Given the description of an element on the screen output the (x, y) to click on. 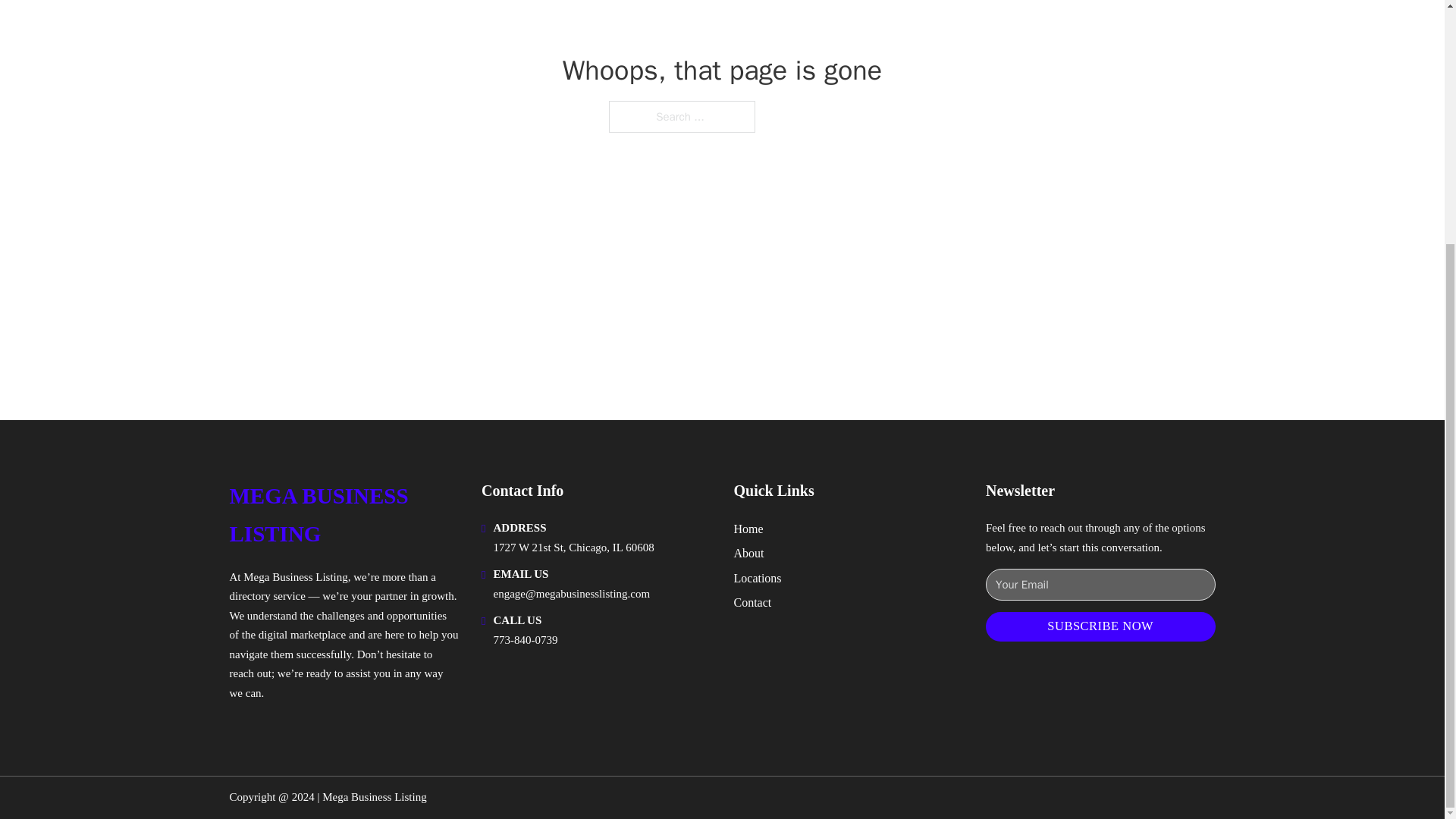
SUBSCRIBE NOW (1100, 626)
Locations (757, 578)
MEGA BUSINESS LISTING (343, 514)
Home (747, 528)
Contact (752, 602)
773-840-0739 (525, 639)
About (748, 552)
